Given the description of an element on the screen output the (x, y) to click on. 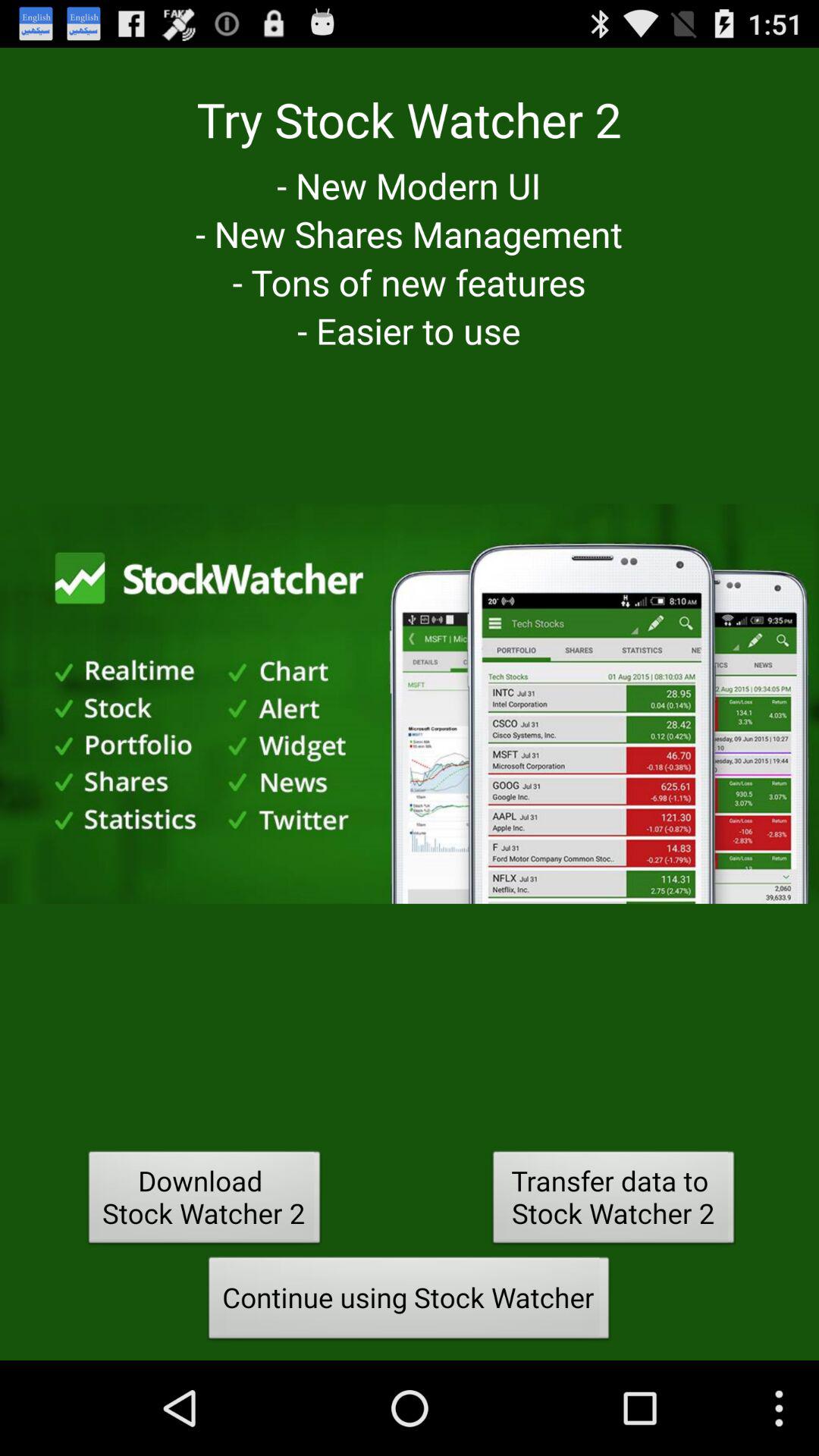
launch icon next to the download stock watcher icon (613, 1201)
